Given the description of an element on the screen output the (x, y) to click on. 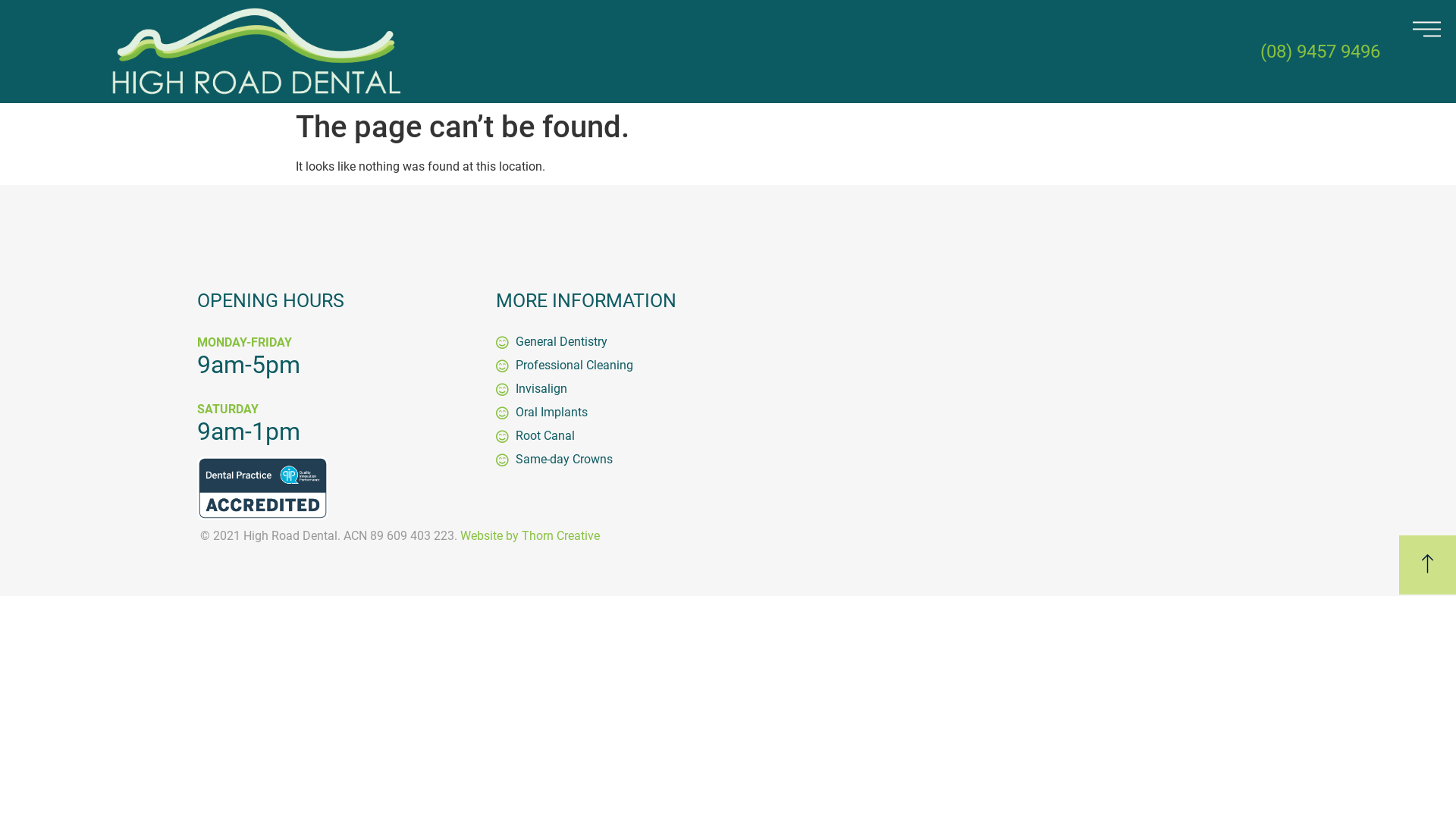
3/183 High Rd, Willetton WA 6155 Element type: hover (1017, 404)
(08) 9457 9496 Element type: text (1320, 51)
Website by Thorn Creative Element type: text (529, 535)
